Given the description of an element on the screen output the (x, y) to click on. 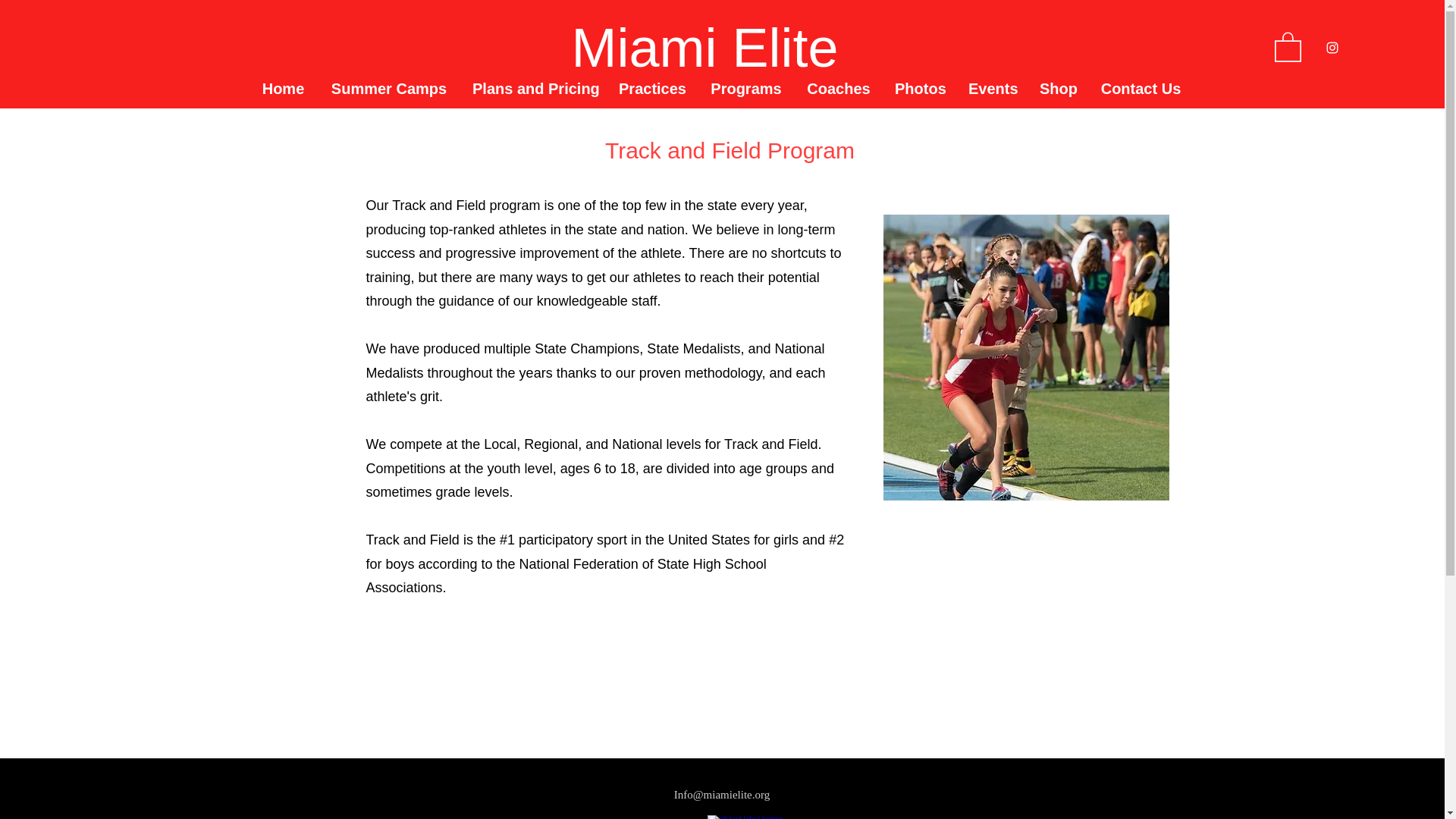
Plans and Pricing (534, 87)
Shop (1057, 87)
Programs (745, 87)
Summer Camps (389, 87)
Photos (919, 87)
Events (991, 87)
Practices (652, 87)
Home (282, 87)
Coaches (838, 87)
Contact Us (1140, 87)
